Given the description of an element on the screen output the (x, y) to click on. 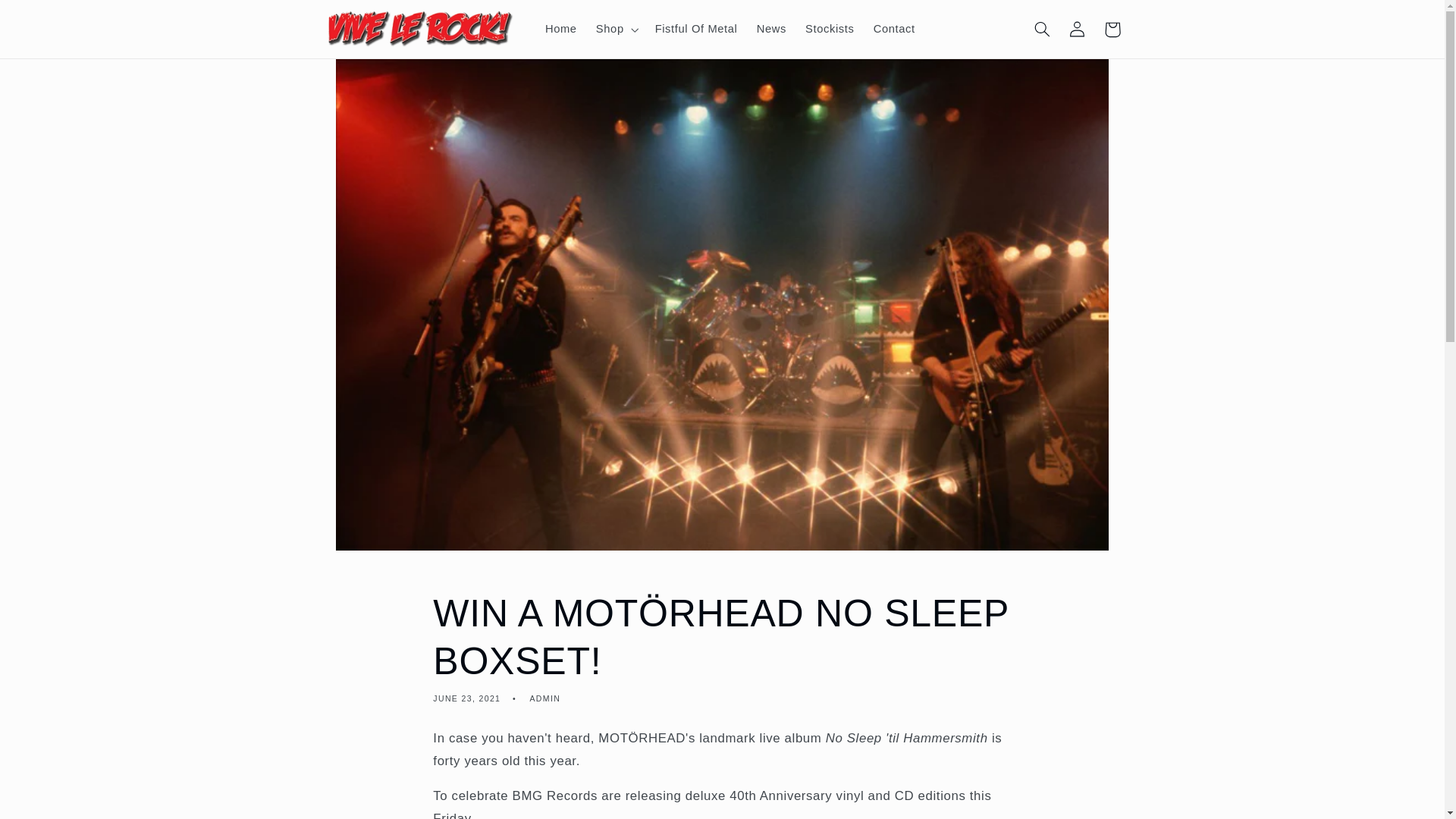
Stockists (830, 29)
Skip to content (48, 18)
Log in (1076, 29)
Home (560, 29)
News (770, 29)
Cart (1111, 29)
Fistful Of Metal (695, 29)
Contact (893, 29)
